Given the description of an element on the screen output the (x, y) to click on. 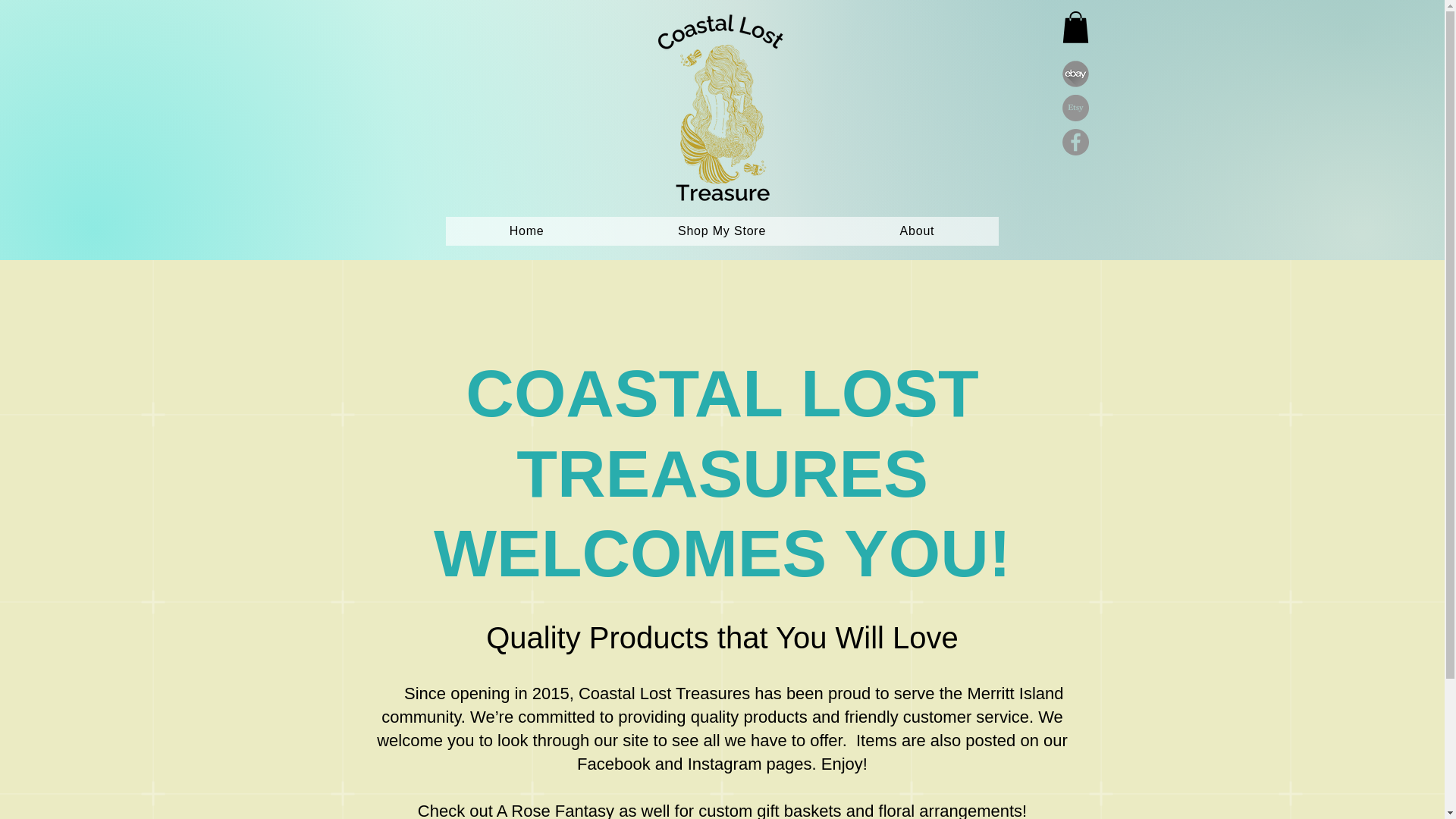
Shop My Store (721, 231)
Home (526, 231)
About (916, 231)
